Given the description of an element on the screen output the (x, y) to click on. 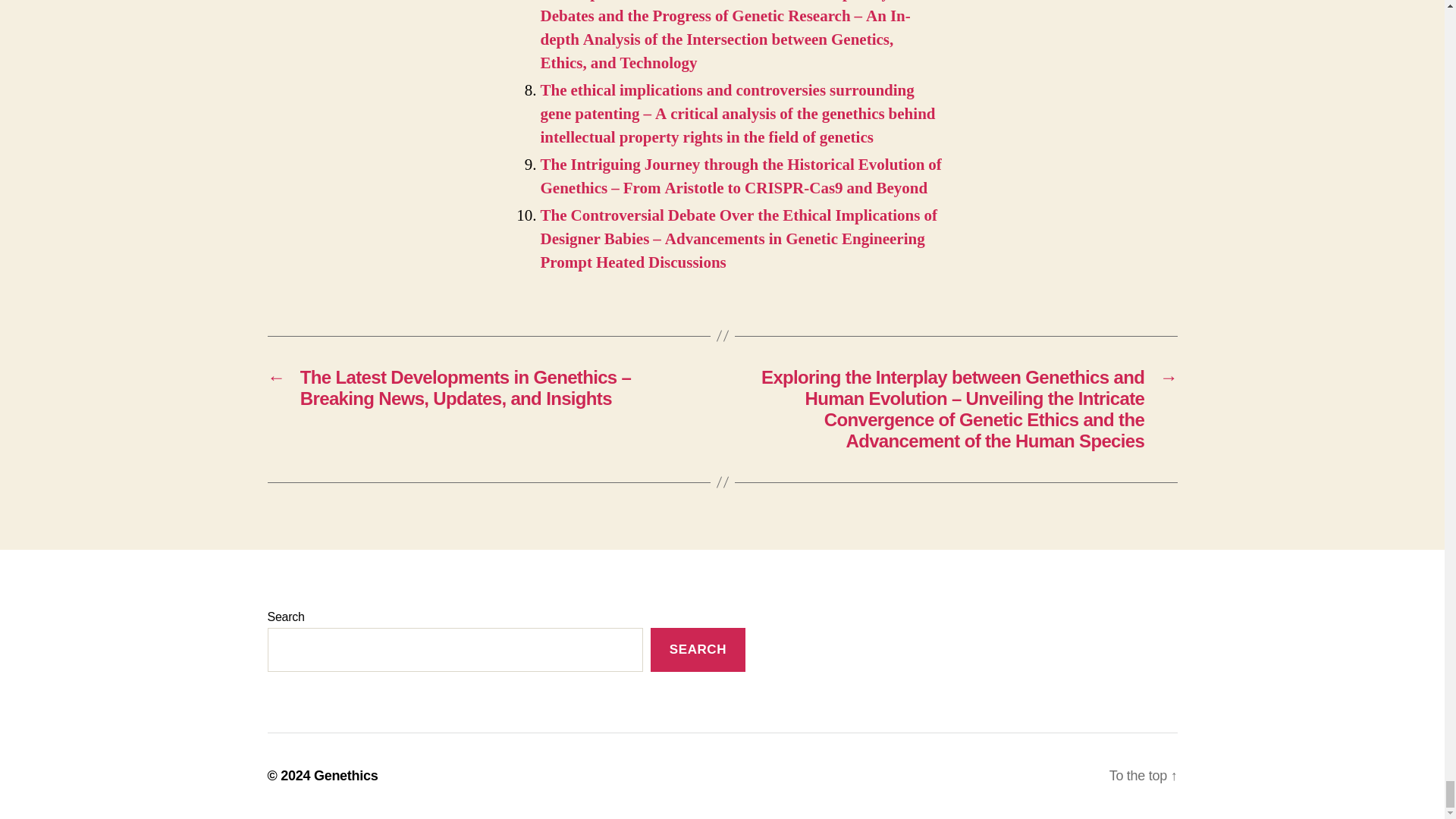
SEARCH (697, 650)
Genethics (346, 775)
